Given the description of an element on the screen output the (x, y) to click on. 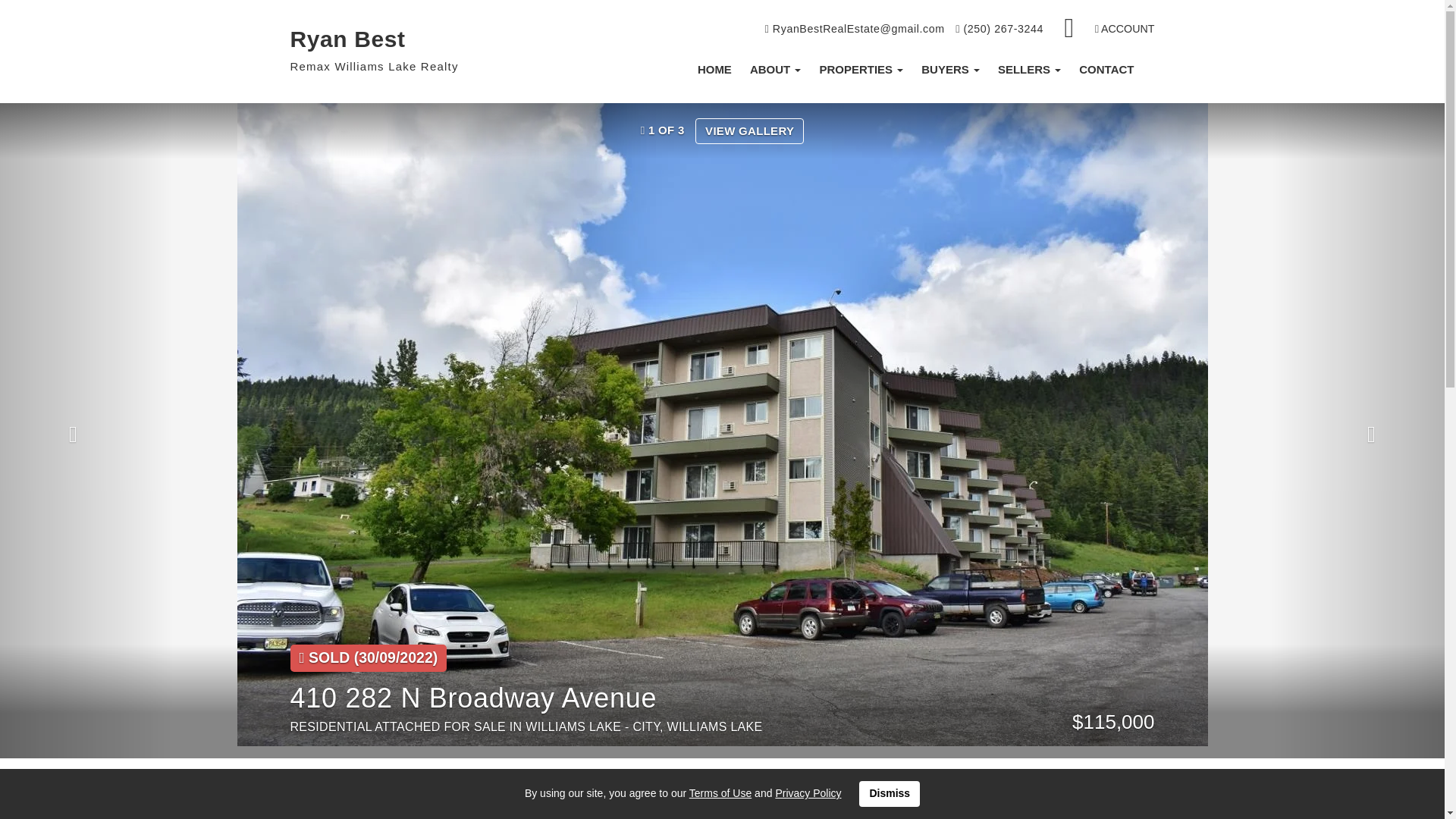
HOME (714, 69)
Privacy Policy (807, 793)
Terms of Use (719, 793)
Dismiss (889, 793)
BUYERS (950, 69)
SELLERS (1029, 69)
ABOUT (775, 69)
PROPERTIES (860, 69)
CONTACT (1106, 69)
VIEW GALLERY (749, 130)
ACCOUNT (1124, 28)
Facebook (1070, 28)
